Given the description of an element on the screen output the (x, y) to click on. 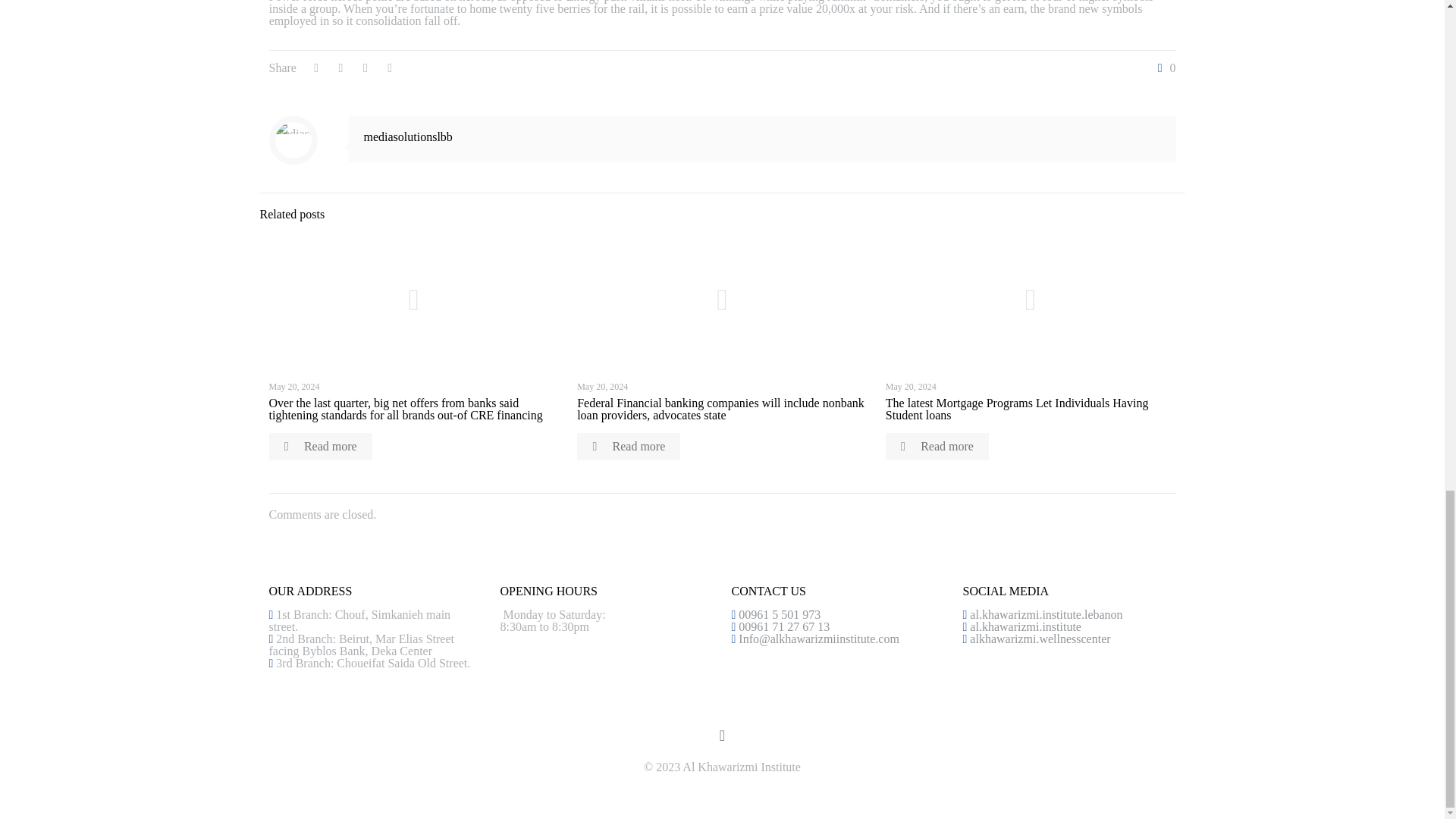
00961 5 501 973 (778, 614)
mediasolutionslbb (408, 136)
Read more (627, 446)
0 (1162, 68)
Read more (319, 446)
Read more (936, 446)
